Given the description of an element on the screen output the (x, y) to click on. 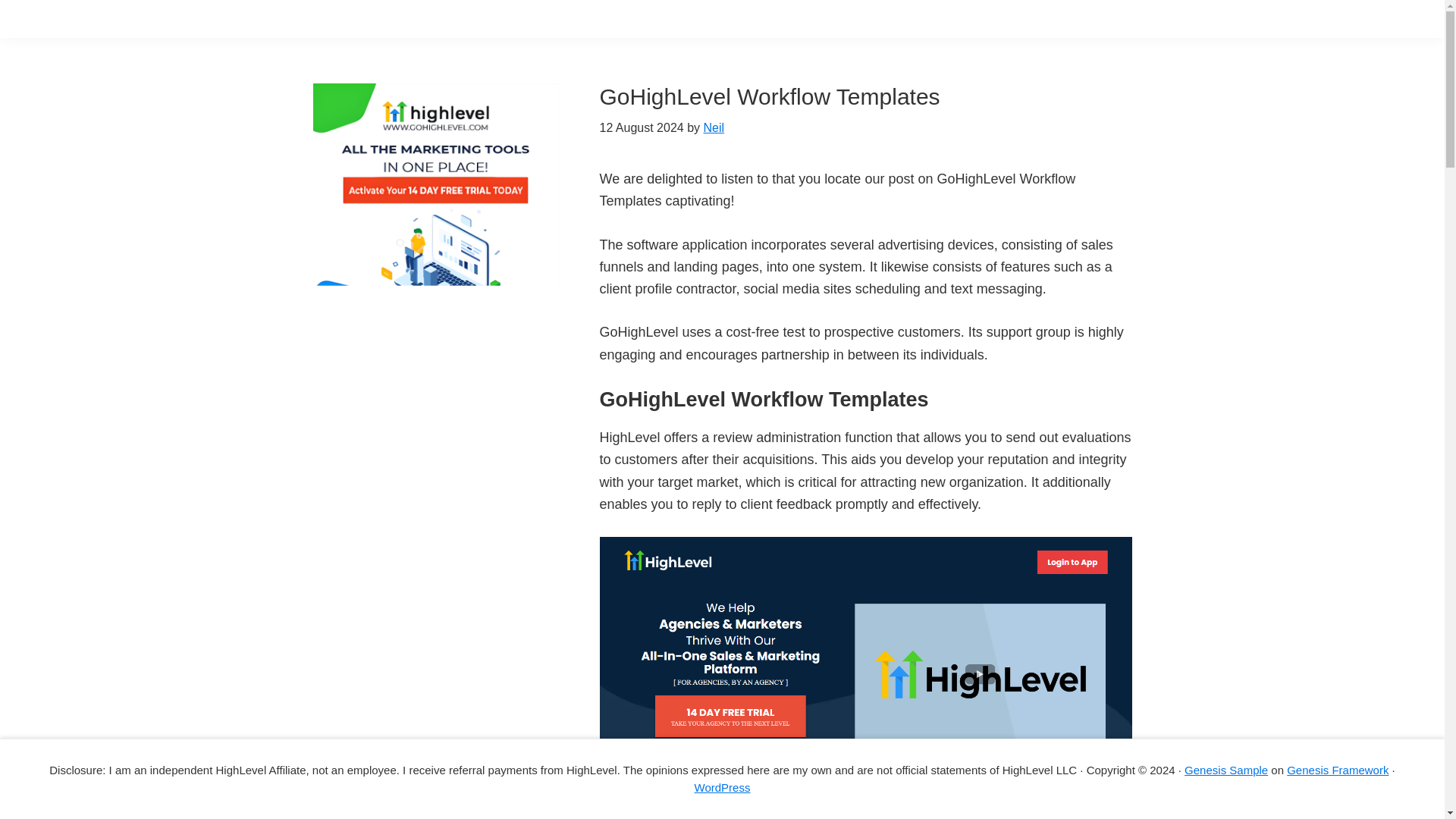
Genesis Sample (1226, 769)
WordPress (722, 787)
Genesis Framework (1338, 769)
Neil (714, 127)
